Given the description of an element on the screen output the (x, y) to click on. 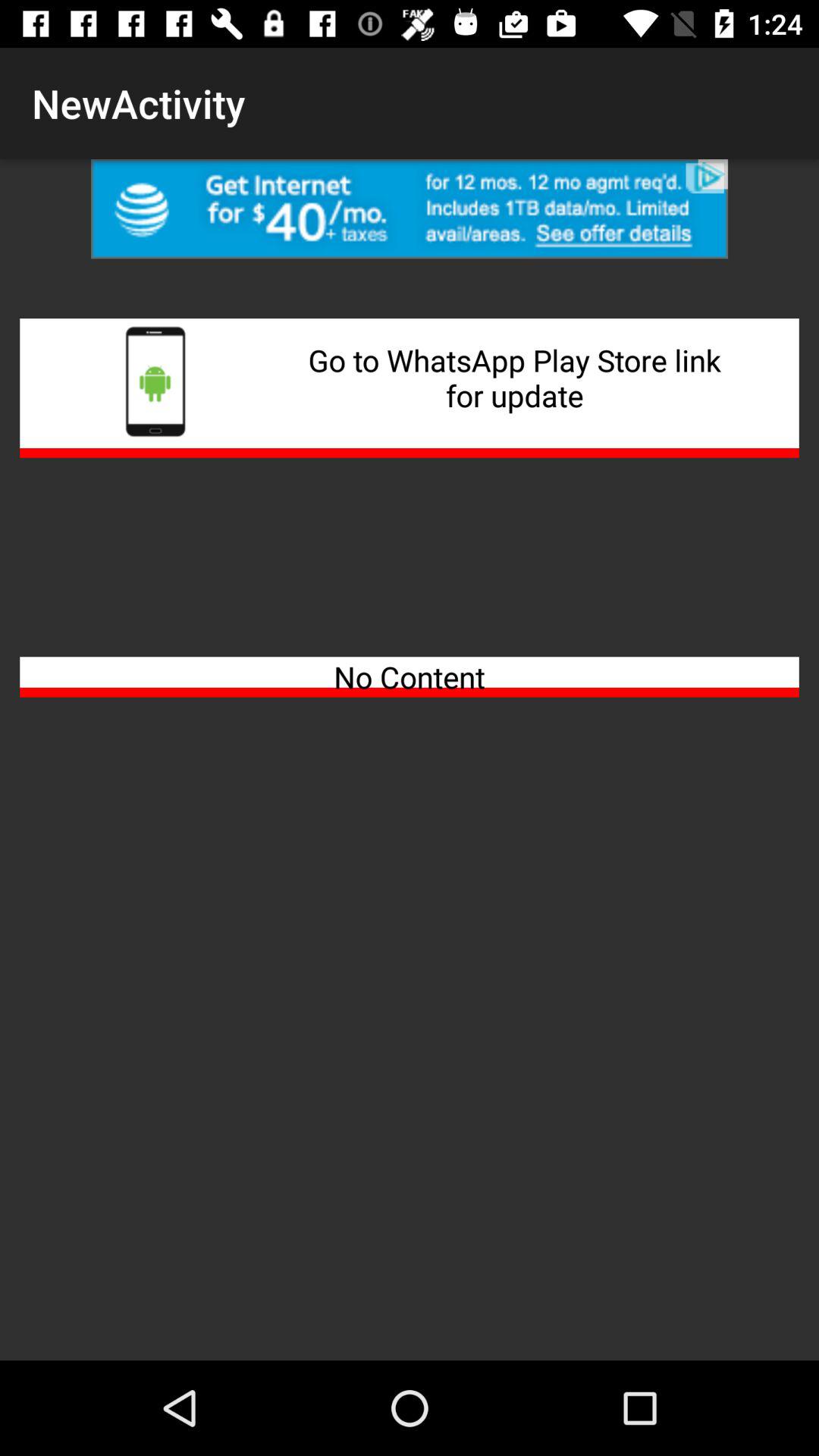
click advertisement (409, 208)
